Given the description of an element on the screen output the (x, y) to click on. 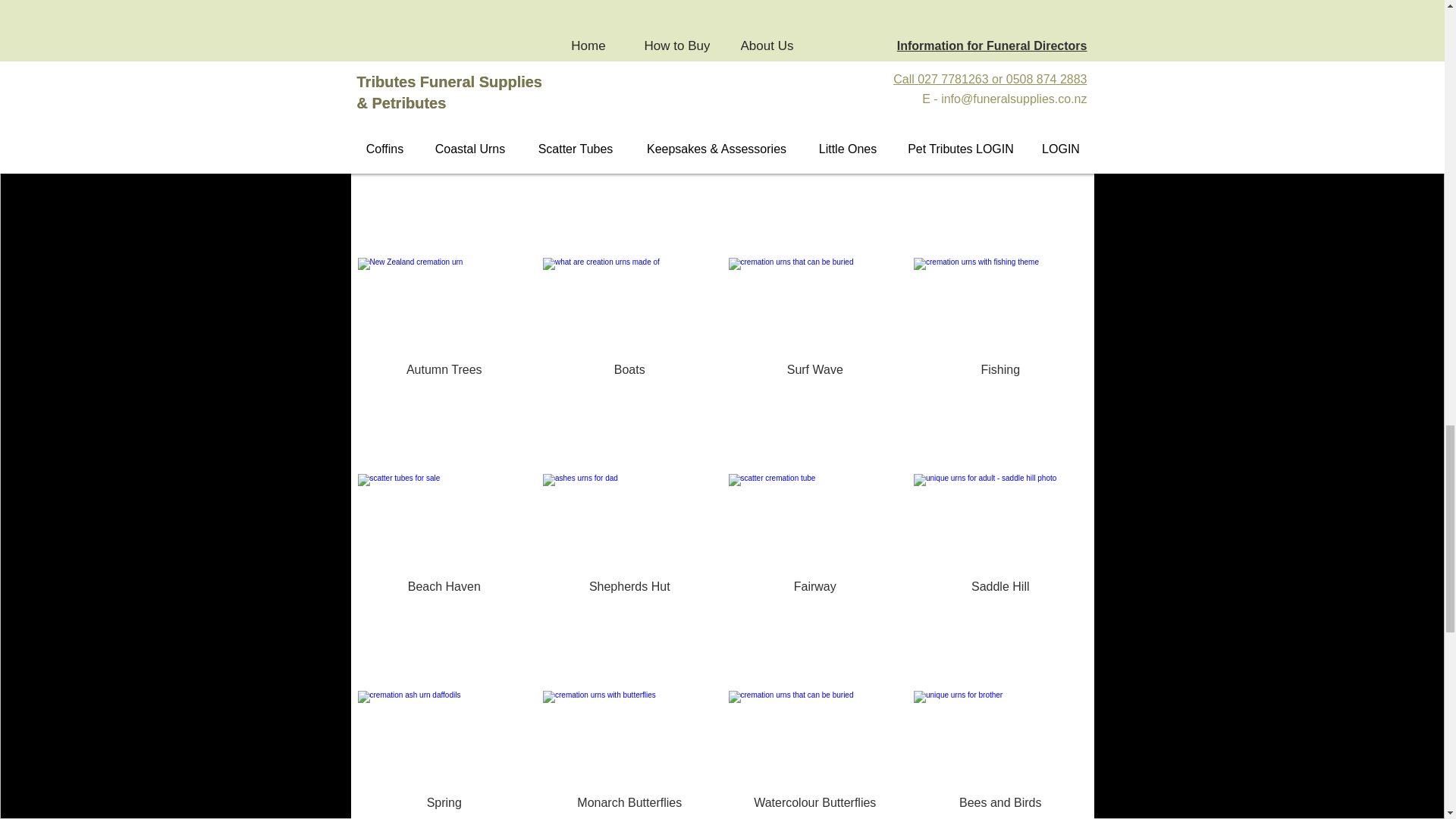
Autumn Trees (444, 369)
St Clair Beach (630, 153)
Boats (630, 369)
Deer (444, 153)
Surf Wave (815, 369)
Lake Hayes (1000, 153)
Willow tree (815, 153)
